Given the description of an element on the screen output the (x, y) to click on. 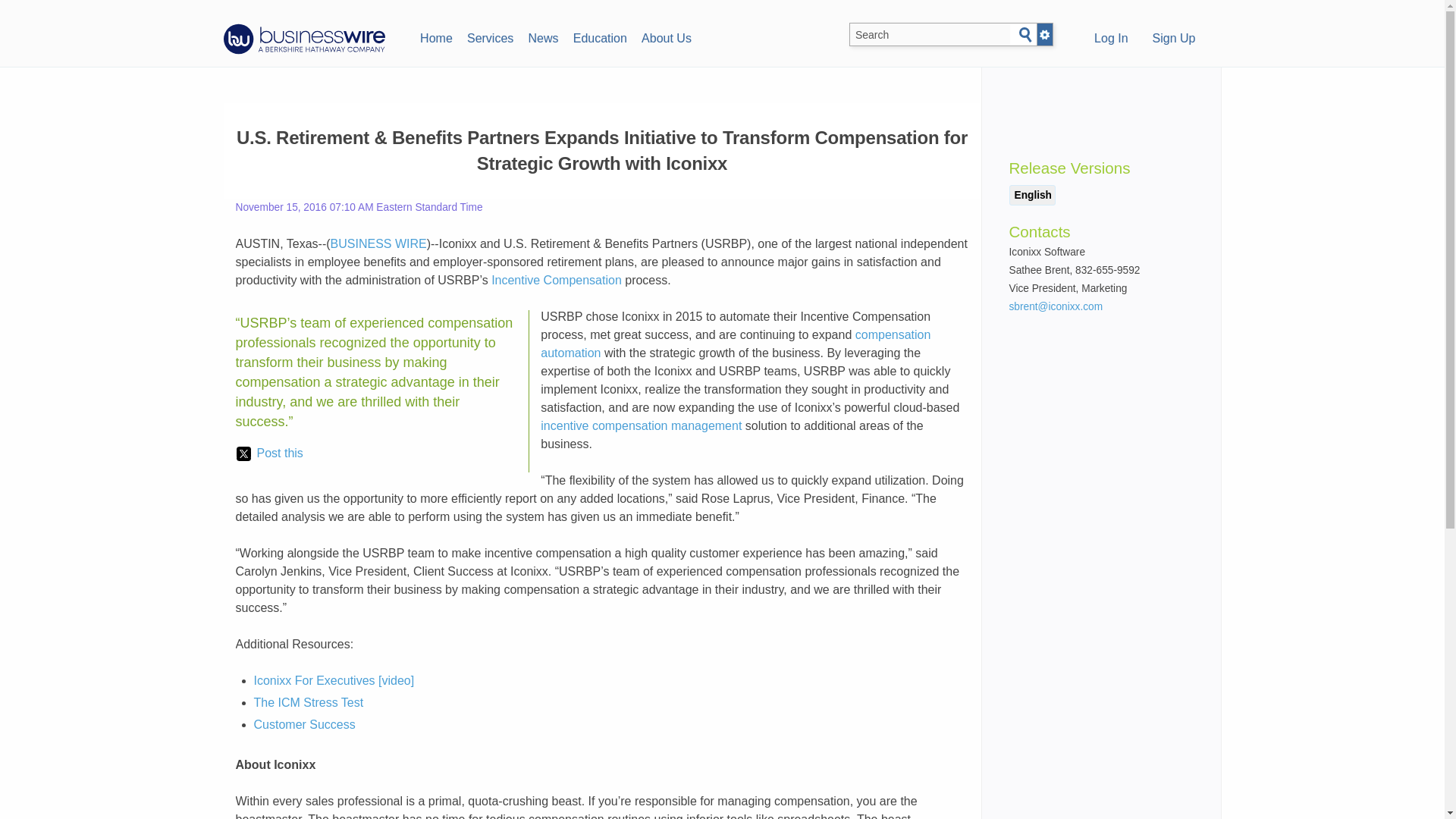
BUSINESS WIRE (378, 243)
Search BusinessWire.com (930, 34)
Home (436, 36)
Search (1025, 34)
compensation automation (735, 343)
About Us (665, 36)
Customer Success (304, 724)
Post this (269, 453)
The ICM Stress Test (307, 702)
Education (599, 36)
